Given the description of an element on the screen output the (x, y) to click on. 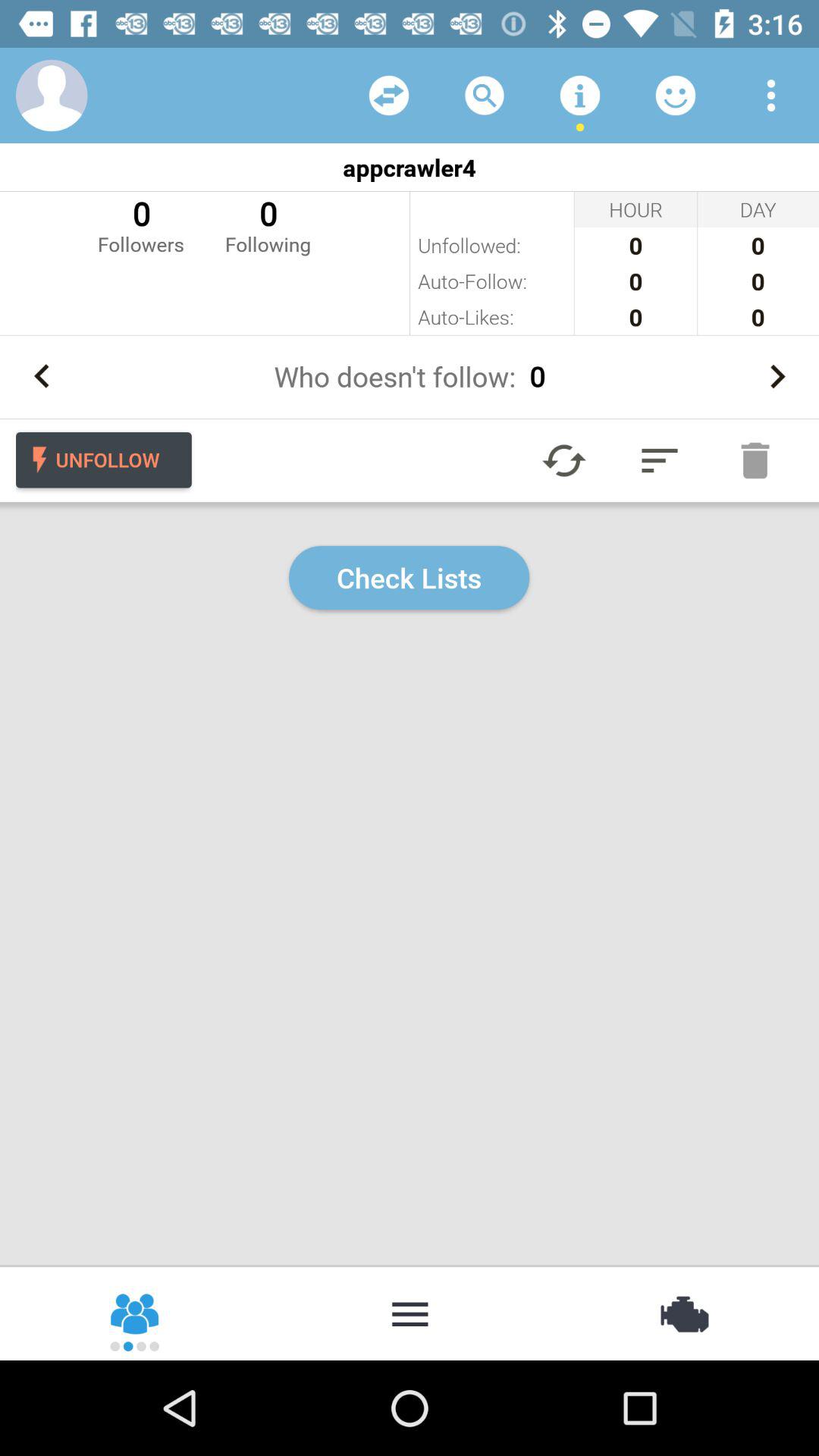
information (579, 95)
